Given the description of an element on the screen output the (x, y) to click on. 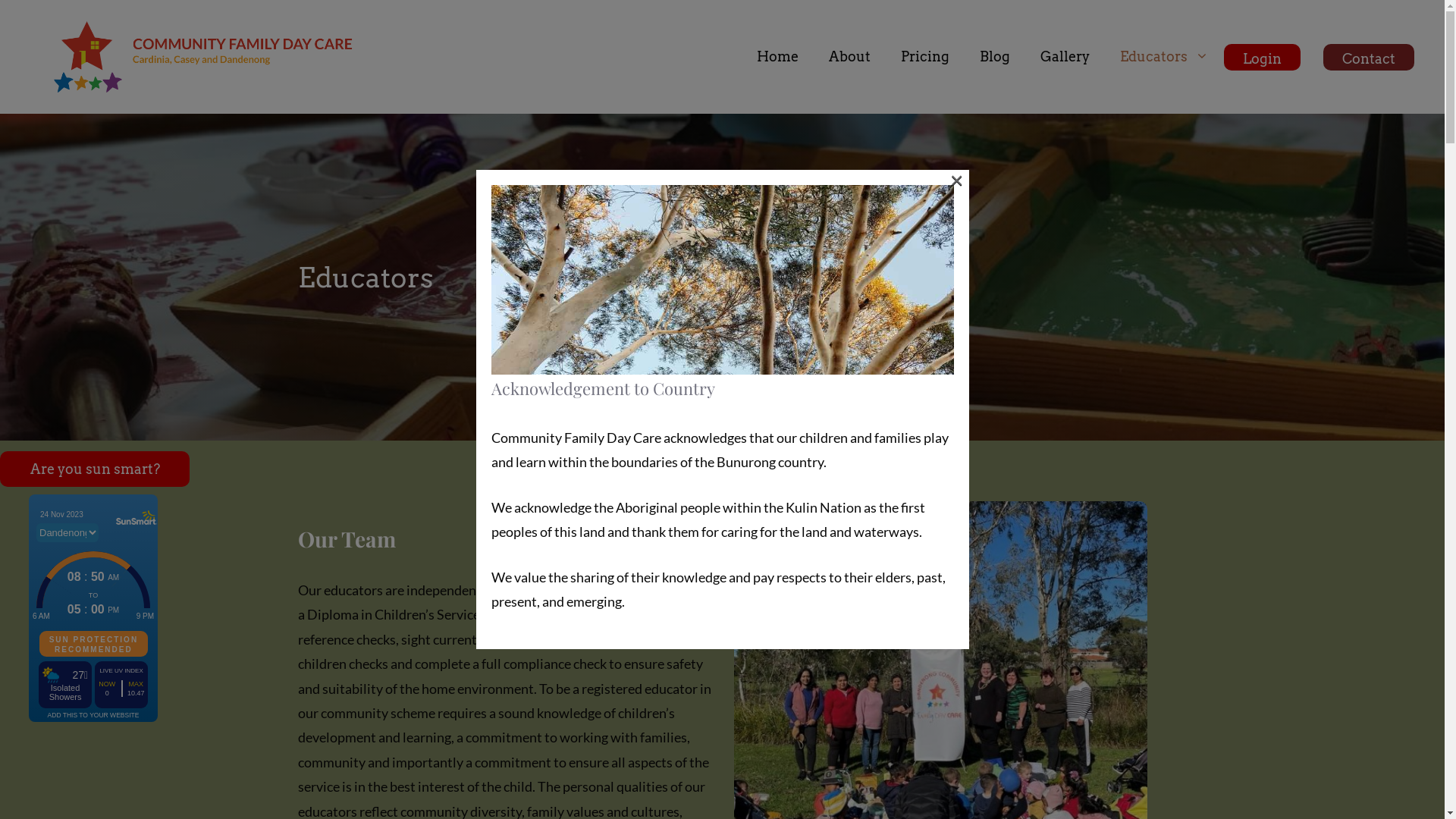
Blog Element type: text (994, 56)
Pricing Element type: text (924, 56)
Login Element type: text (1261, 40)
Are you sun smart? Element type: text (94, 468)
Gallery Element type: text (1064, 56)
Contact Element type: text (1368, 40)
Educators Element type: text (1163, 56)
About Element type: text (849, 56)
Home Element type: text (777, 56)
